Given the description of an element on the screen output the (x, y) to click on. 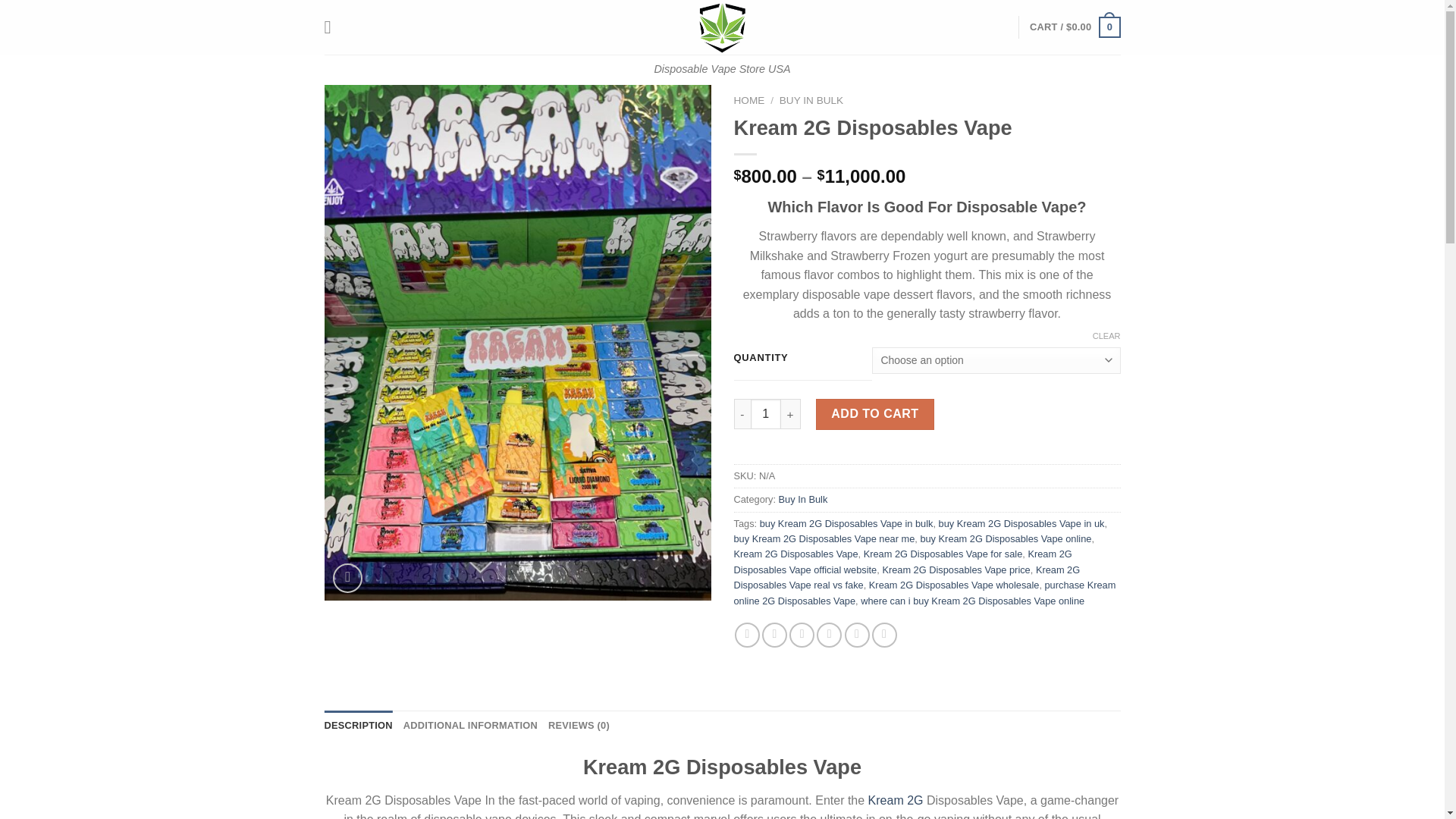
Kream 2G Disposables Vape official website (902, 560)
buy Kream 2G Disposables Vape near me (824, 538)
Kream 2G Disposables Vape wholesale (954, 584)
1 (765, 413)
ADD TO CART (874, 413)
BUY IN BULK (810, 100)
purchase Kream online 2G Disposables Vape (924, 592)
Email to a Friend (801, 634)
Pin on Pinterest (828, 634)
Kream 2G Disposables Vape (796, 553)
Zoom (347, 577)
buy Kream 2G Disposables Vape online (1005, 538)
where can i buy Kream 2G Disposables Vape online (972, 600)
CLEAR (1107, 335)
HOME (749, 100)
